Given the description of an element on the screen output the (x, y) to click on. 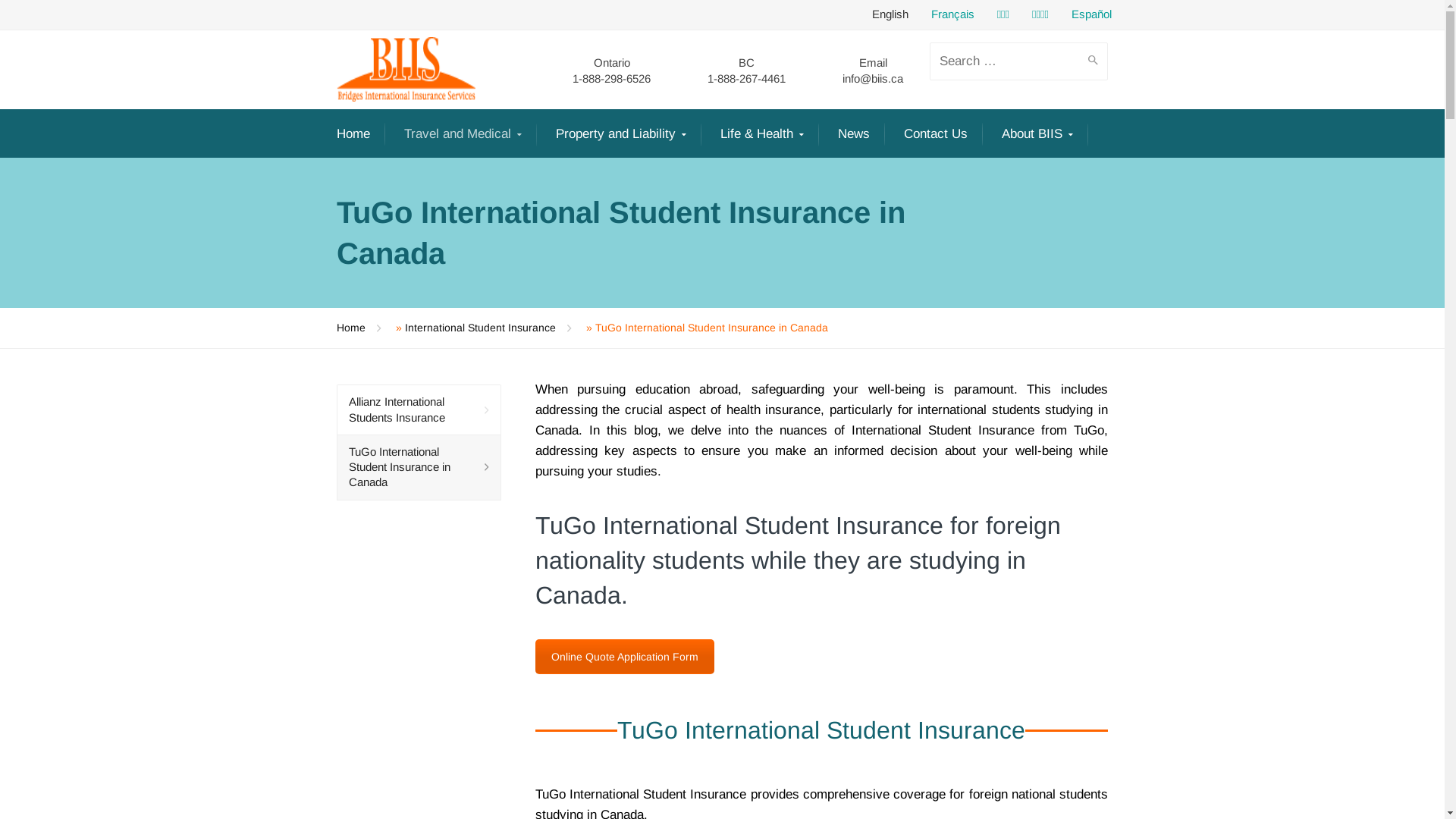
Allianz International Students Insurance Element type: text (418, 410)
About BIIS Element type: text (1037, 134)
info@biis.ca Element type: text (872, 77)
Home Element type: text (358, 327)
Property and Liability Element type: text (620, 134)
Home Element type: text (353, 133)
English Element type: text (890, 14)
International Student Insurance Element type: text (487, 327)
Search Element type: text (1089, 68)
TuGo International Student Insurance in Canada Element type: text (418, 467)
Travel and Medical Element type: text (462, 134)
Online Quote Application Form Element type: text (624, 656)
News Element type: text (853, 133)
Life & Health Element type: text (761, 134)
Contact Us Element type: text (935, 133)
